Given the description of an element on the screen output the (x, y) to click on. 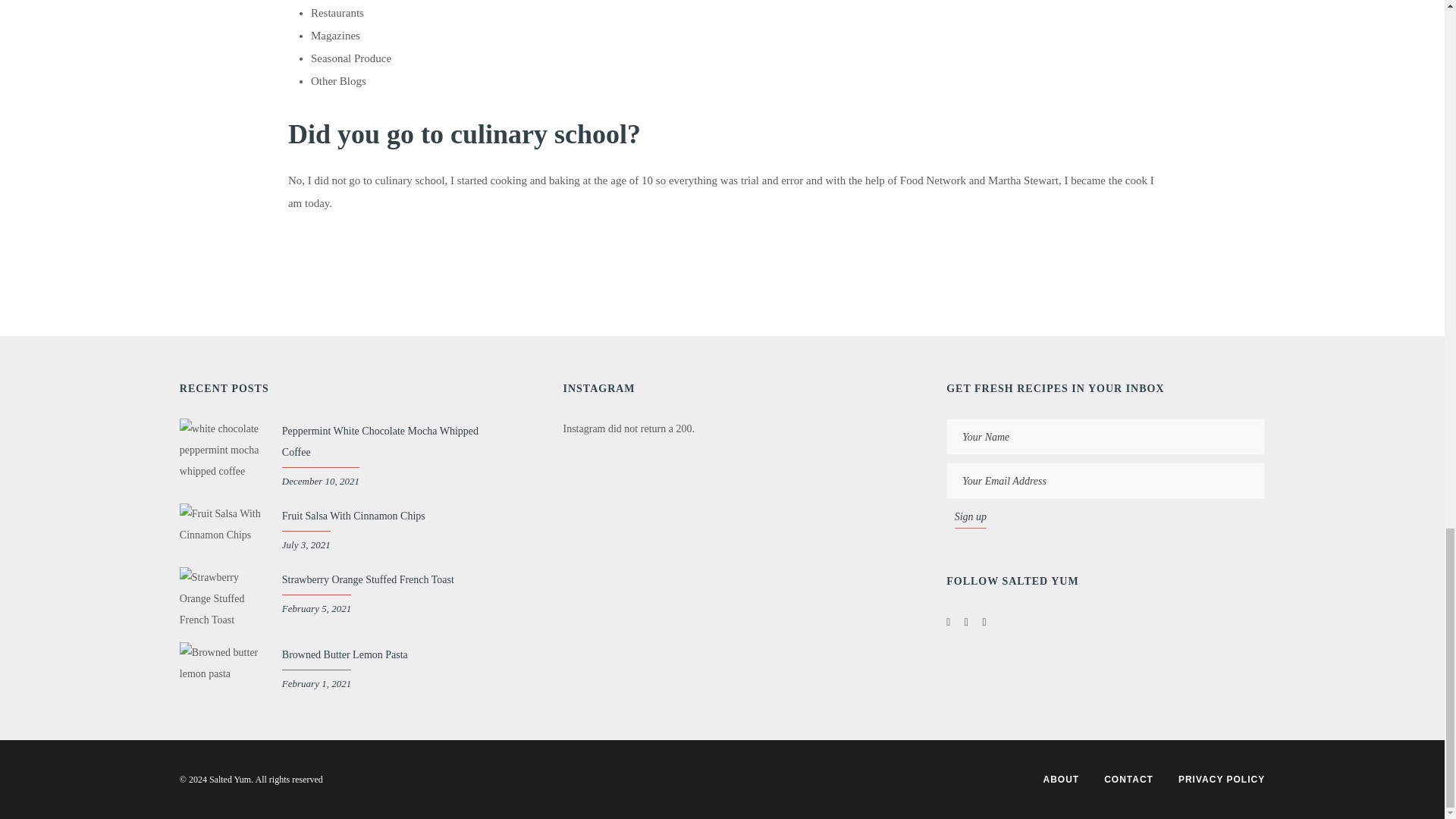
Browned Butter Lemon Pasta (344, 654)
Fruit Salsa With Cinnamon Chips (353, 515)
Peppermint White Chocolate Mocha Whipped Coffee (380, 441)
Strawberry Orange Stuffed French Toast (368, 579)
ABOUT (1061, 778)
Peppermint White Chocolate Mocha Whipped Coffee (380, 441)
Browned Butter Lemon Pasta (344, 654)
CONTACT (1128, 778)
Fruit Salsa With Cinnamon Chips (353, 515)
Strawberry Orange Stuffed French Toast (368, 579)
